Given the description of an element on the screen output the (x, y) to click on. 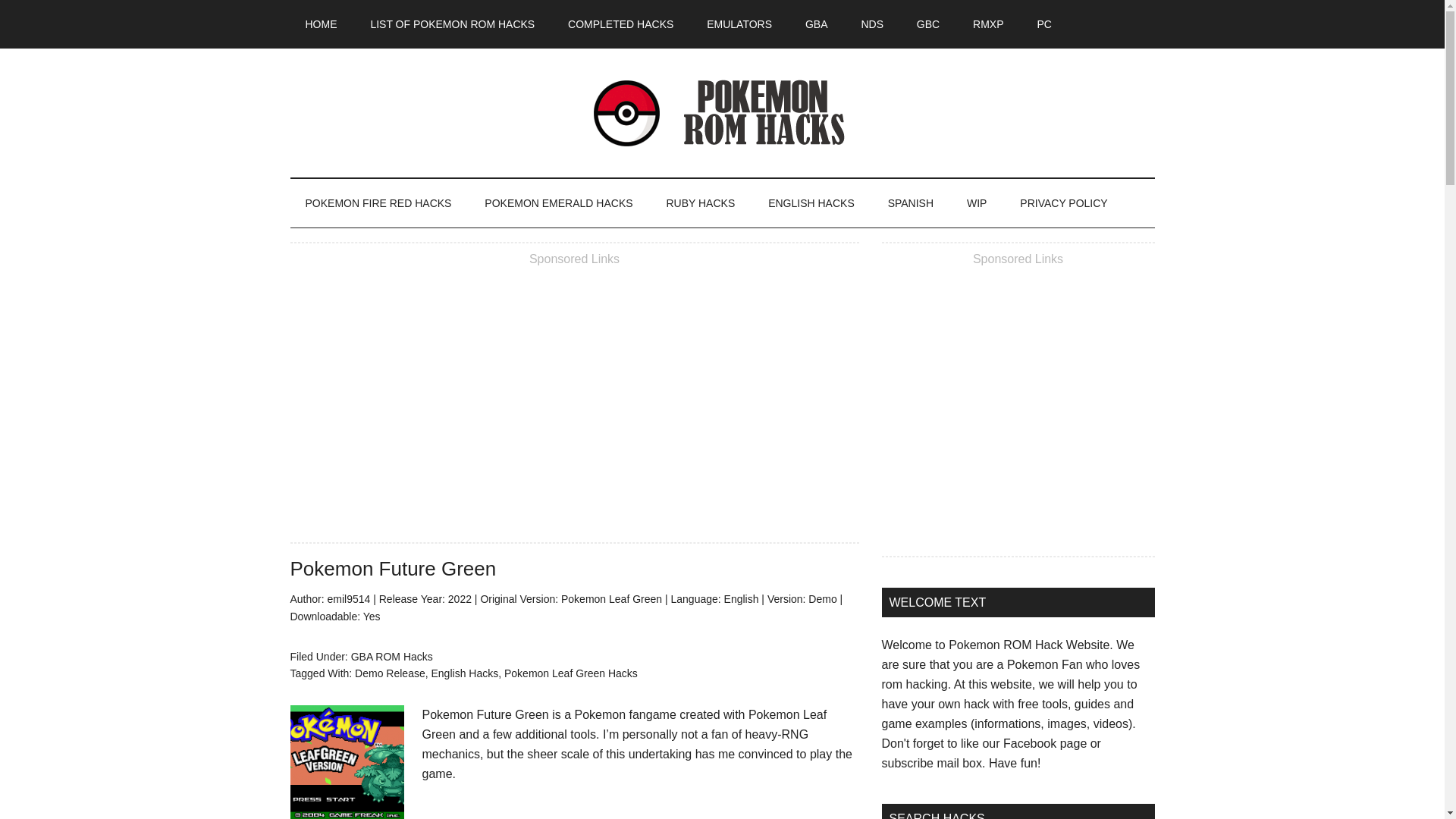
RMXP (987, 24)
POKEMON EMERALD HACKS (557, 203)
WIP (976, 203)
RUBY HACKS (699, 203)
Demo Release (390, 673)
PRIVACY POLICY (1063, 203)
COMPLETED HACKS (620, 24)
Pokemon Leaf Green Hacks (570, 673)
Advertisement (574, 397)
Advertisement (1017, 409)
